Given the description of an element on the screen output the (x, y) to click on. 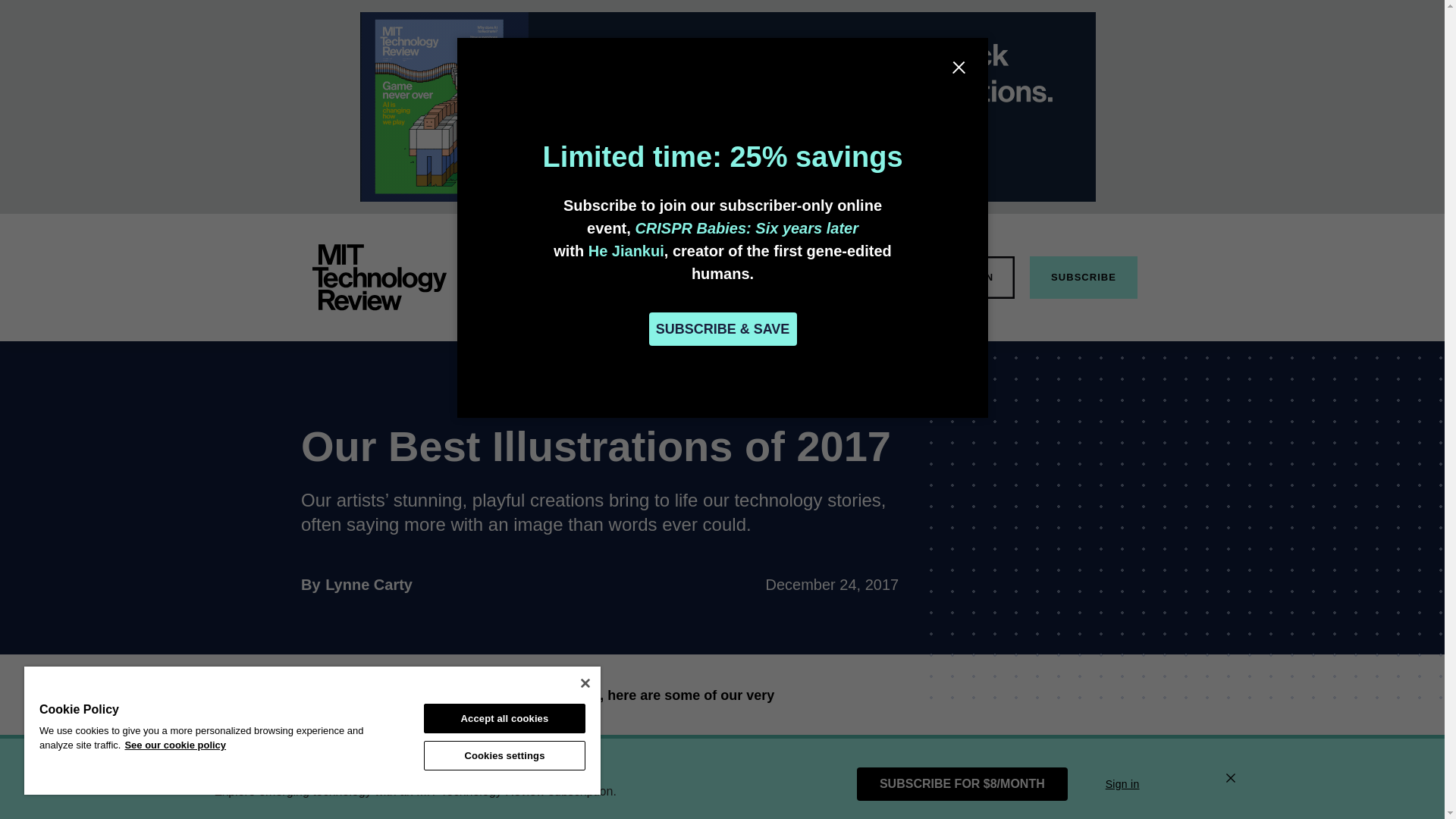
Featured (569, 275)
Topics (639, 275)
MIT Technology Review (379, 277)
Newsletters (717, 275)
Podcasts (868, 275)
Events (368, 584)
3rd party ad content (796, 275)
SUBSCRIBE (1081, 751)
SIGN IN (1083, 277)
Me and My Troll (972, 277)
3rd party ad content (366, 763)
